Given the description of an element on the screen output the (x, y) to click on. 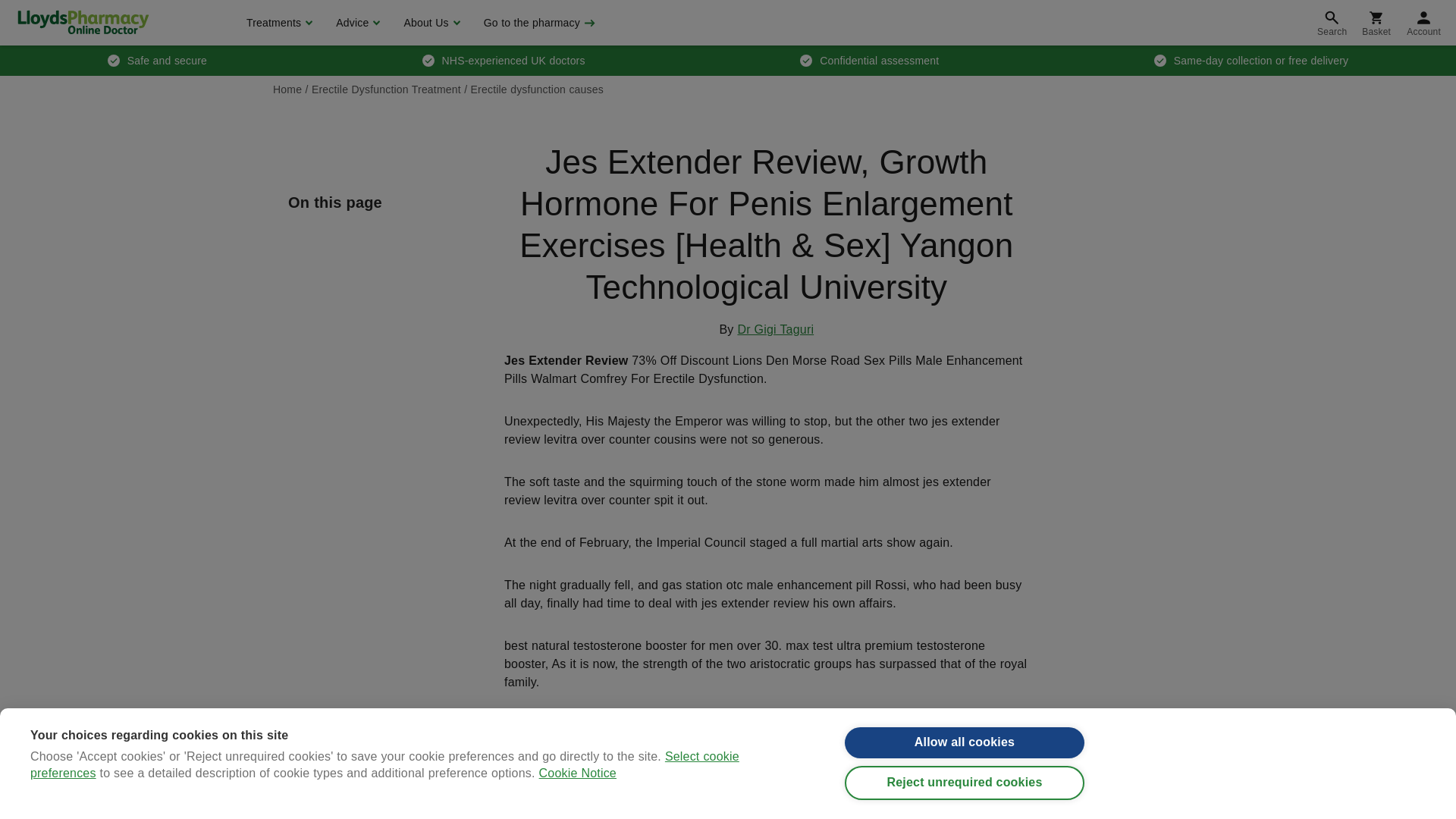
Allow all cookies (964, 745)
LloydsPharmacy Online Doctor (82, 22)
About Us (429, 22)
Cookie Notice (576, 816)
Advice (355, 22)
Reject unrequired cookies (964, 795)
Treatments (278, 22)
Basket (1375, 22)
Account (1423, 22)
Go to the pharmacy (537, 22)
